Given the description of an element on the screen output the (x, y) to click on. 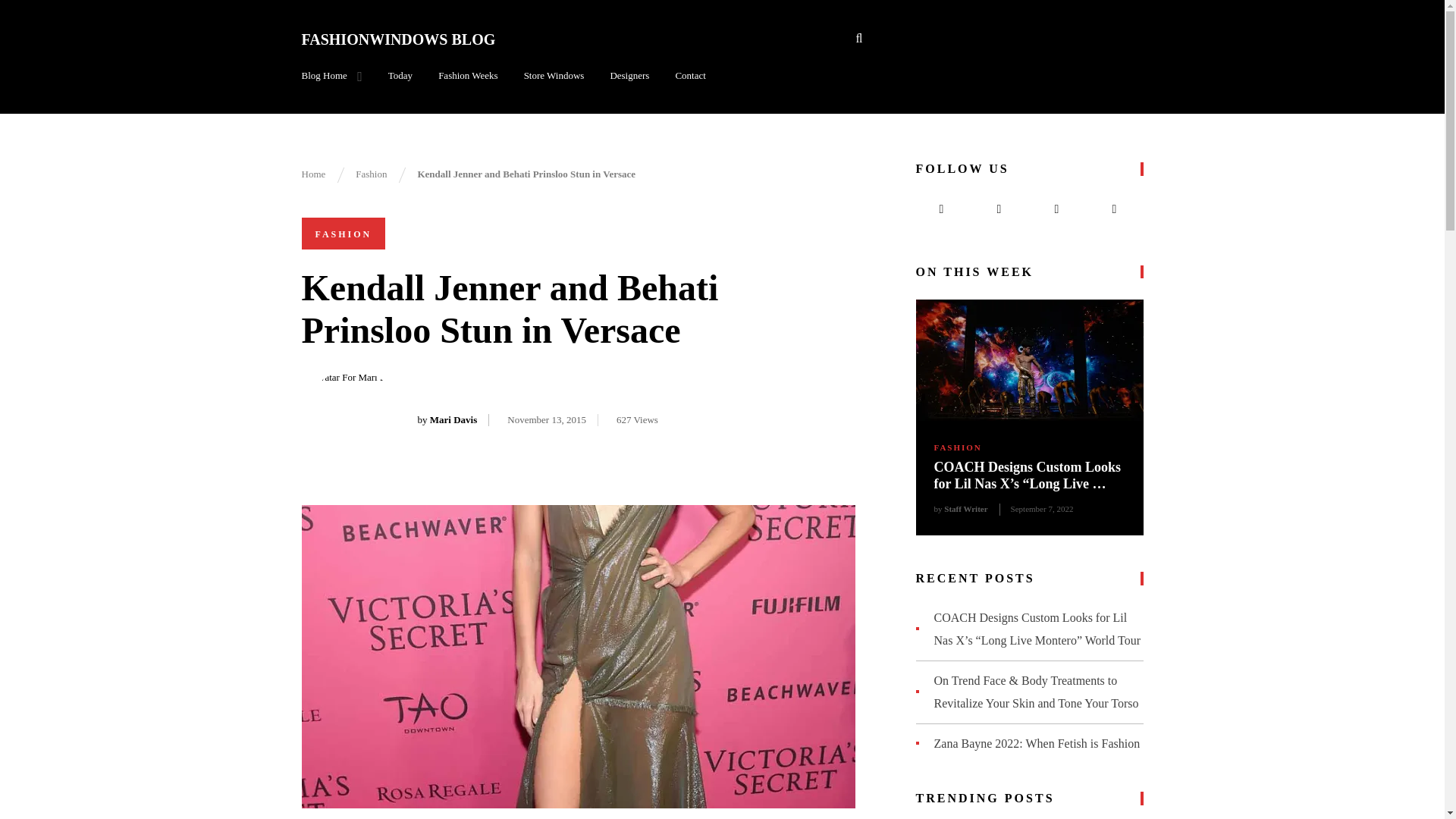
Home (313, 173)
Fashion (371, 173)
Blog Home (331, 75)
View all posts in Fashion (343, 233)
Designers (629, 75)
Contact (689, 75)
Gravatar for Mari Davis (352, 420)
Store Windows (554, 75)
Fashion Weeks (467, 75)
FASHIONWINDOWS BLOG (398, 38)
